Given the description of an element on the screen output the (x, y) to click on. 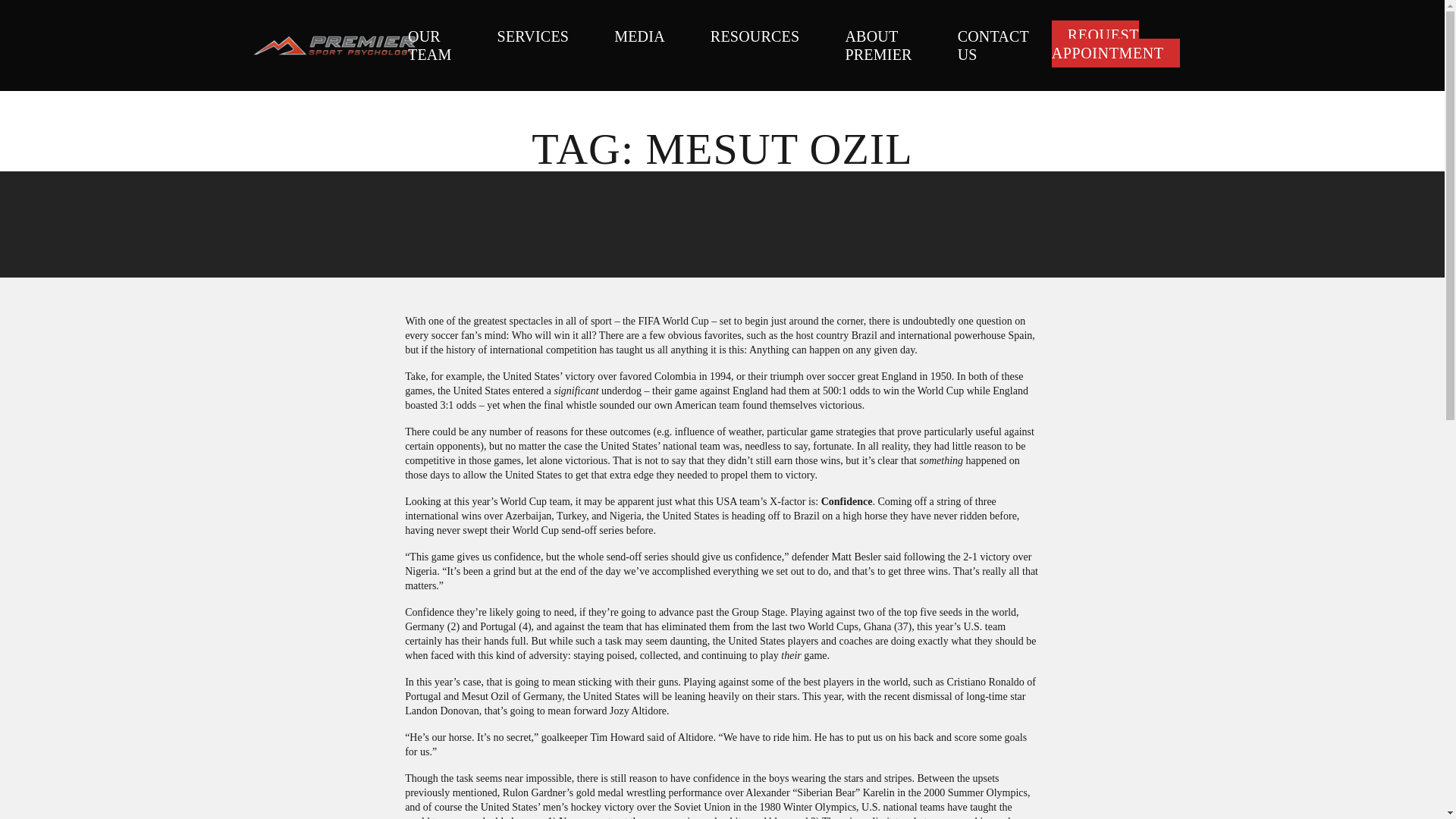
MEDIA (639, 36)
RESOURCES (754, 36)
SERVICES (533, 36)
OUR TEAM (429, 45)
